Given the description of an element on the screen output the (x, y) to click on. 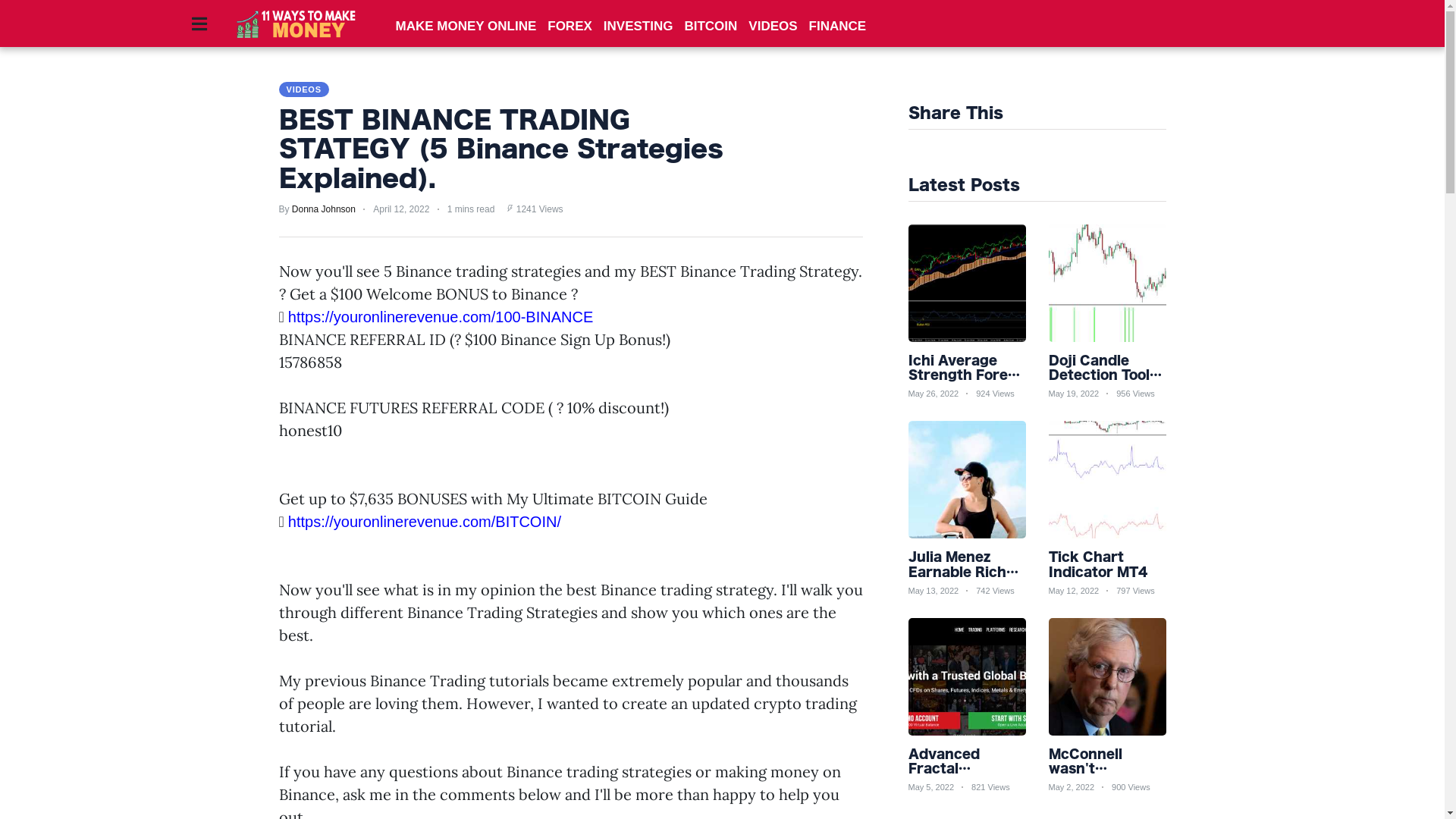
BITCOIN Element type: text (710, 25)
VIDEOS Element type: text (772, 25)
INVESTING Element type: text (638, 25)
https://youronlinerevenue.com/100-BINANCE Element type: text (440, 316)
FOREX Element type: text (569, 25)
VIDEOS Element type: text (304, 89)
MAKE MONEY ONLINE Element type: text (465, 25)
FINANCE Element type: text (837, 25)
Donna Johnson Element type: text (323, 208)
https://youronlinerevenue.com/BITCOIN/ Element type: text (424, 521)
